Given the description of an element on the screen output the (x, y) to click on. 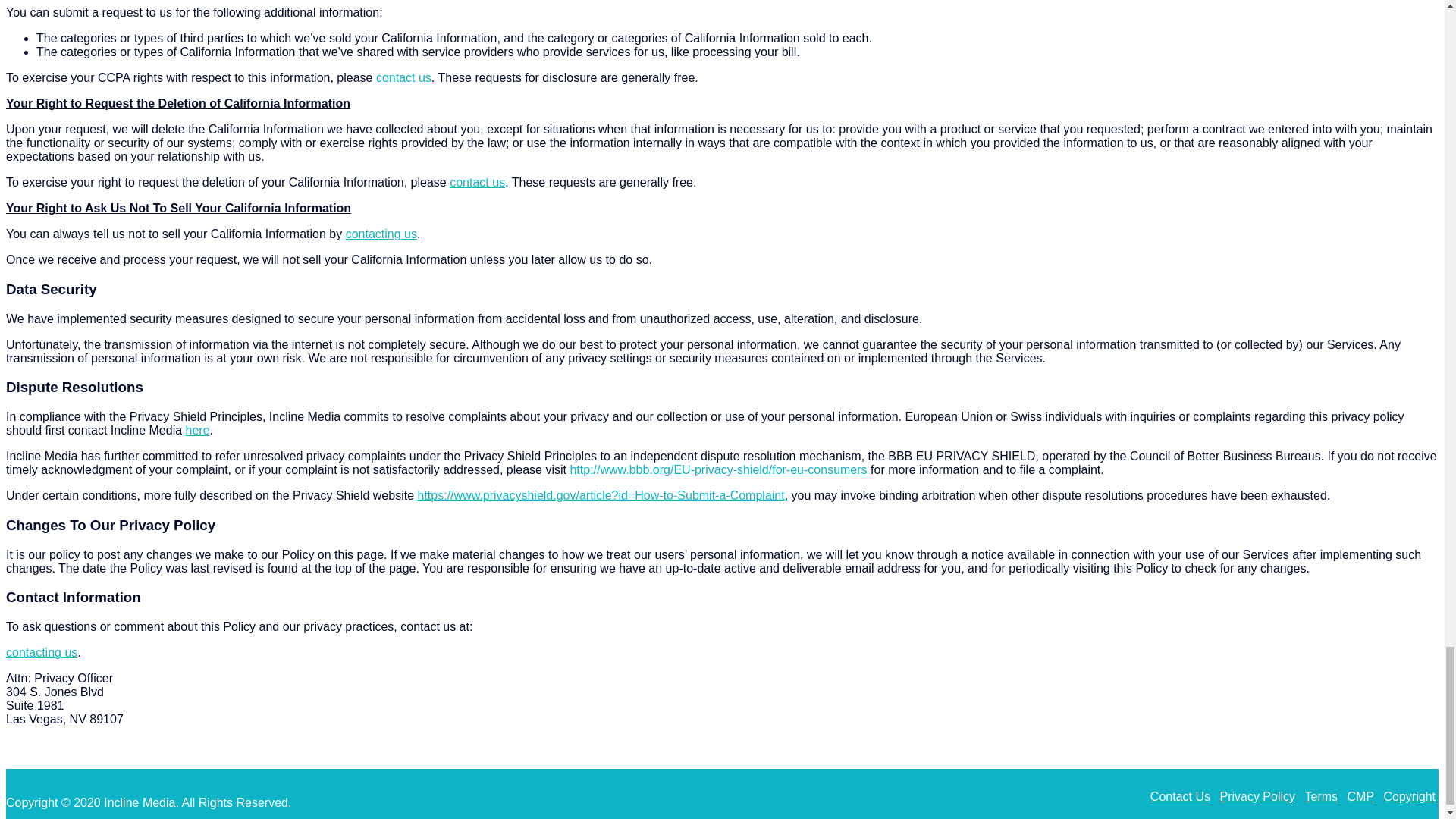
Privacy Policy (1256, 796)
contact us (402, 77)
contacting us (381, 233)
Contact Us (1179, 796)
contact us (477, 182)
contacting us (41, 652)
Terms (1320, 796)
here (197, 430)
CMP (1360, 796)
